Given the description of an element on the screen output the (x, y) to click on. 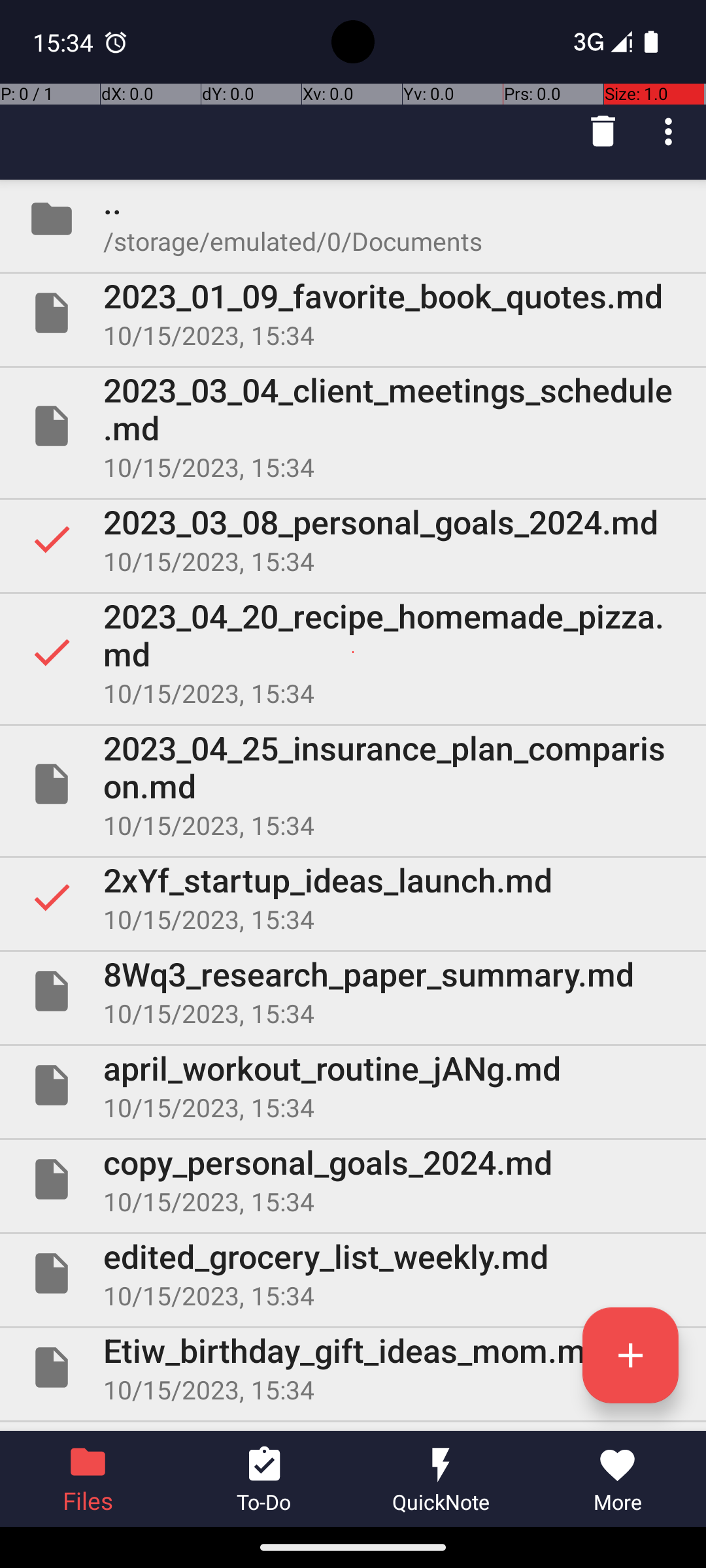
File 2023_01_09_favorite_book_quotes.md  Element type: android.widget.LinearLayout (353, 312)
File 2023_03_04_client_meetings_schedule.md  Element type: android.widget.LinearLayout (353, 425)
Selected 2023_03_08_personal_goals_2024.md  Element type: android.widget.LinearLayout (353, 538)
Selected 2023_04_20_recipe_homemade_pizza.md 10/15/2023, 15:34 Element type: android.widget.LinearLayout (353, 651)
File 2023_04_25_insurance_plan_comparison.md  Element type: android.widget.LinearLayout (353, 783)
Selected 2xYf_startup_ideas_launch.md 10/15/2023, 15:34 Element type: android.widget.LinearLayout (353, 896)
File 8Wq3_research_paper_summary.md  Element type: android.widget.LinearLayout (353, 990)
File april_workout_routine_jANg.md  Element type: android.widget.LinearLayout (353, 1084)
File copy_personal_goals_2024.md  Element type: android.widget.LinearLayout (353, 1179)
File edited_grocery_list_weekly.md  Element type: android.widget.LinearLayout (353, 1273)
File Etiw_birthday_gift_ideas_mom.md  Element type: android.widget.LinearLayout (353, 1367)
File J7k3_research_paper_summary.md  Element type: android.widget.LinearLayout (353, 1426)
